Given the description of an element on the screen output the (x, y) to click on. 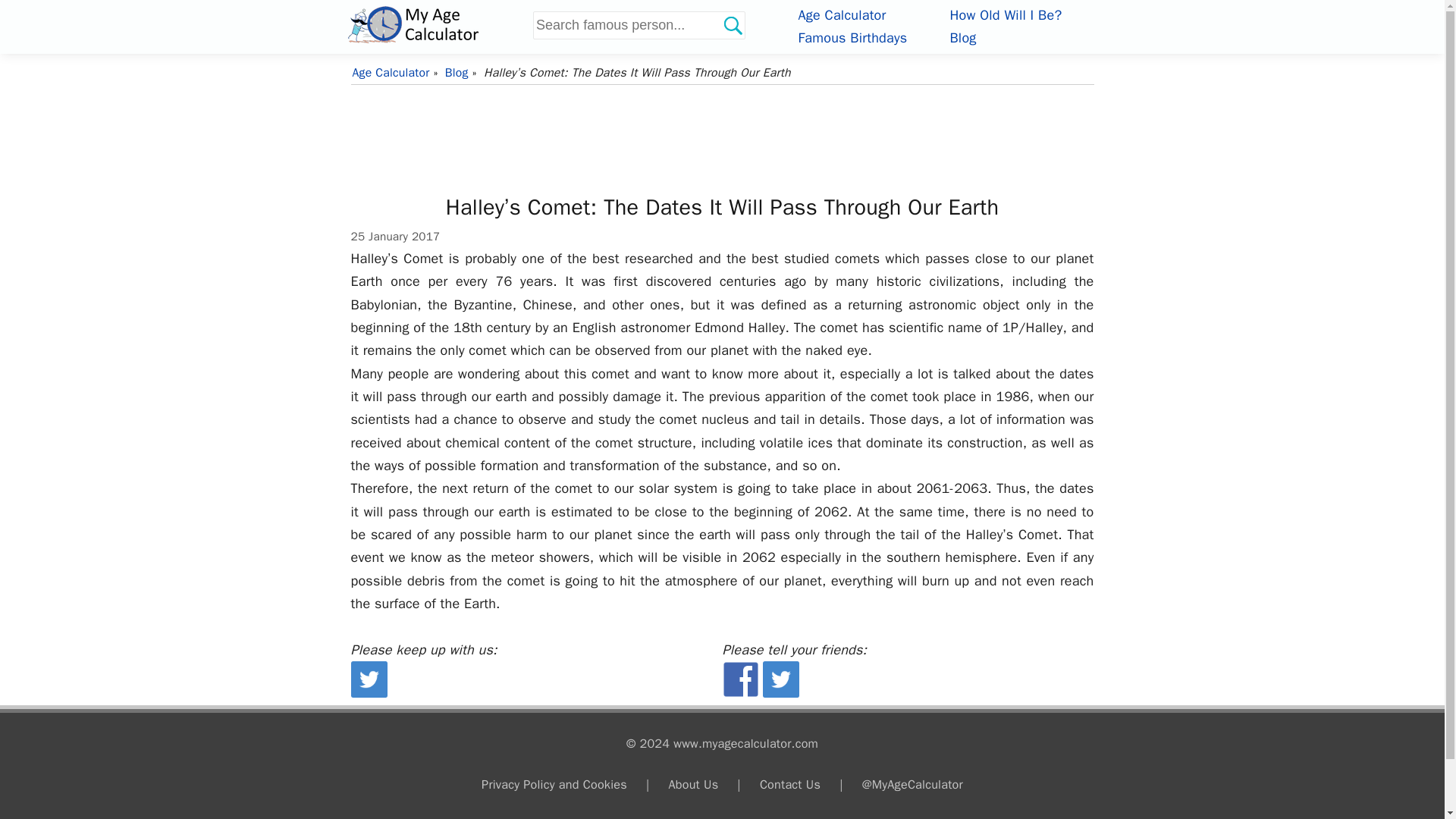
Age Calculator (437, 24)
Contact Us (790, 783)
Contact Us (790, 783)
Age Calculator (841, 14)
How Old Will I Be In The Future? (1005, 14)
Blog (962, 37)
My Age Calculator Twitter (368, 692)
Blog (458, 72)
Famous Birthdays (852, 37)
Famous Birthdays (852, 37)
